Given the description of an element on the screen output the (x, y) to click on. 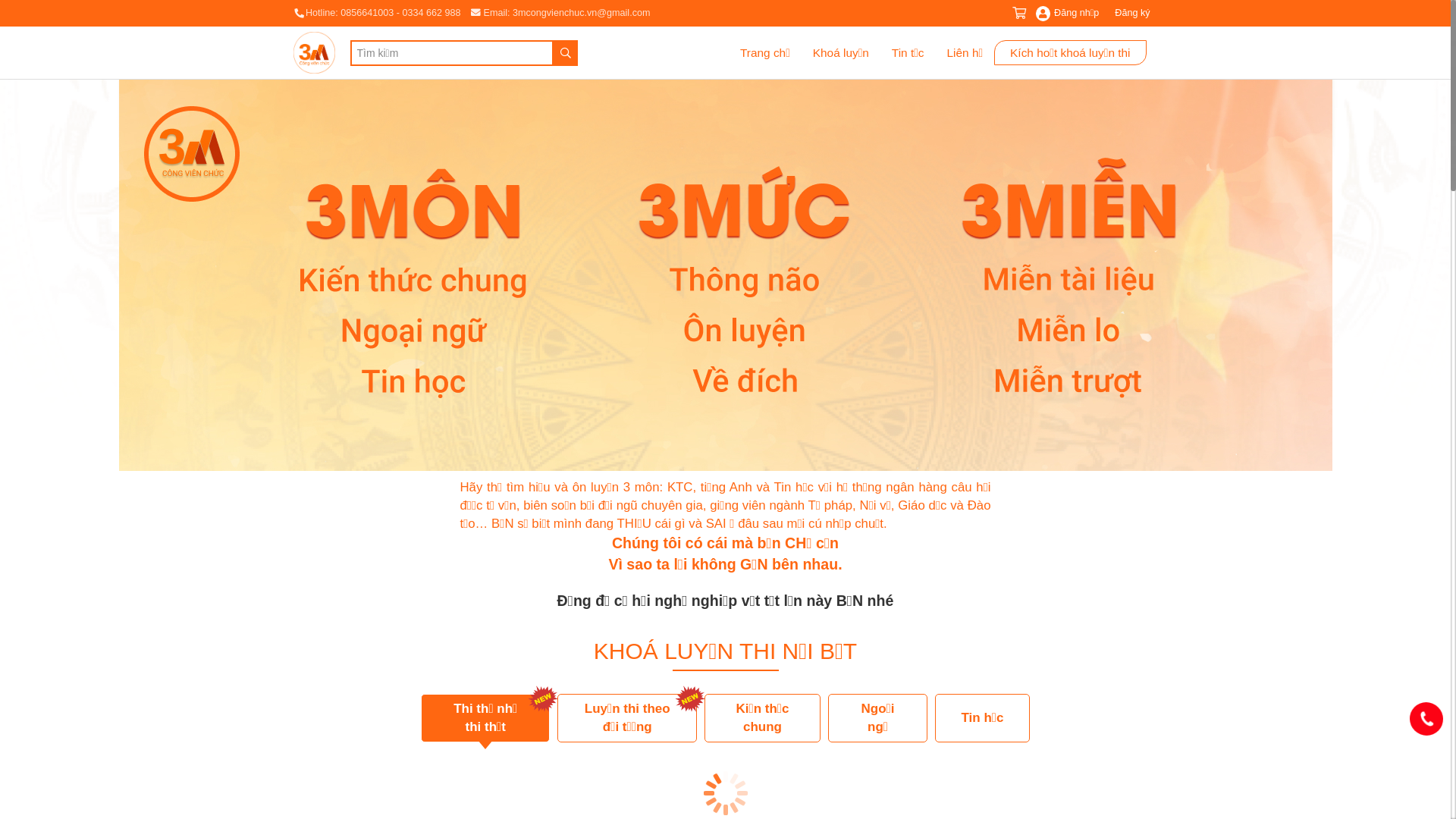
Email: 3mcongvienchuc.vn@gmail.com Element type: text (559, 12)
Hotline: 0856641003 - 0334 662 988 Element type: text (377, 12)
